Given the description of an element on the screen output the (x, y) to click on. 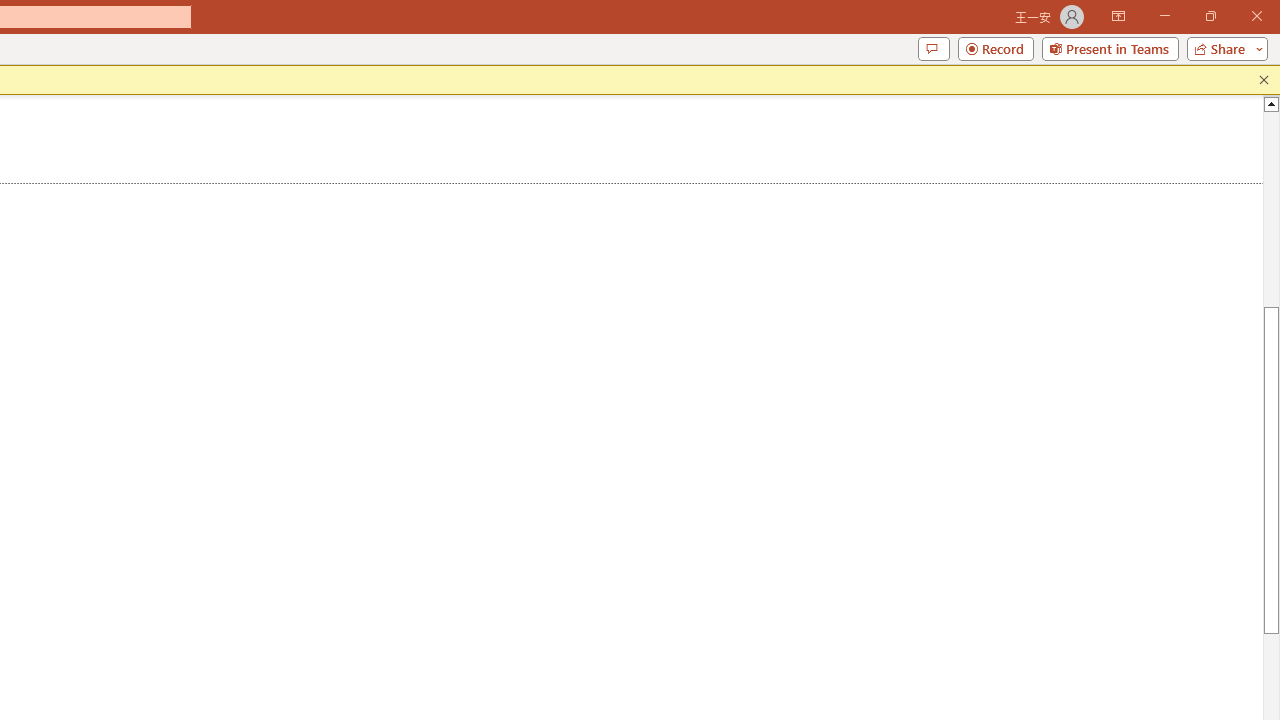
Close this message (1263, 80)
